Given the description of an element on the screen output the (x, y) to click on. 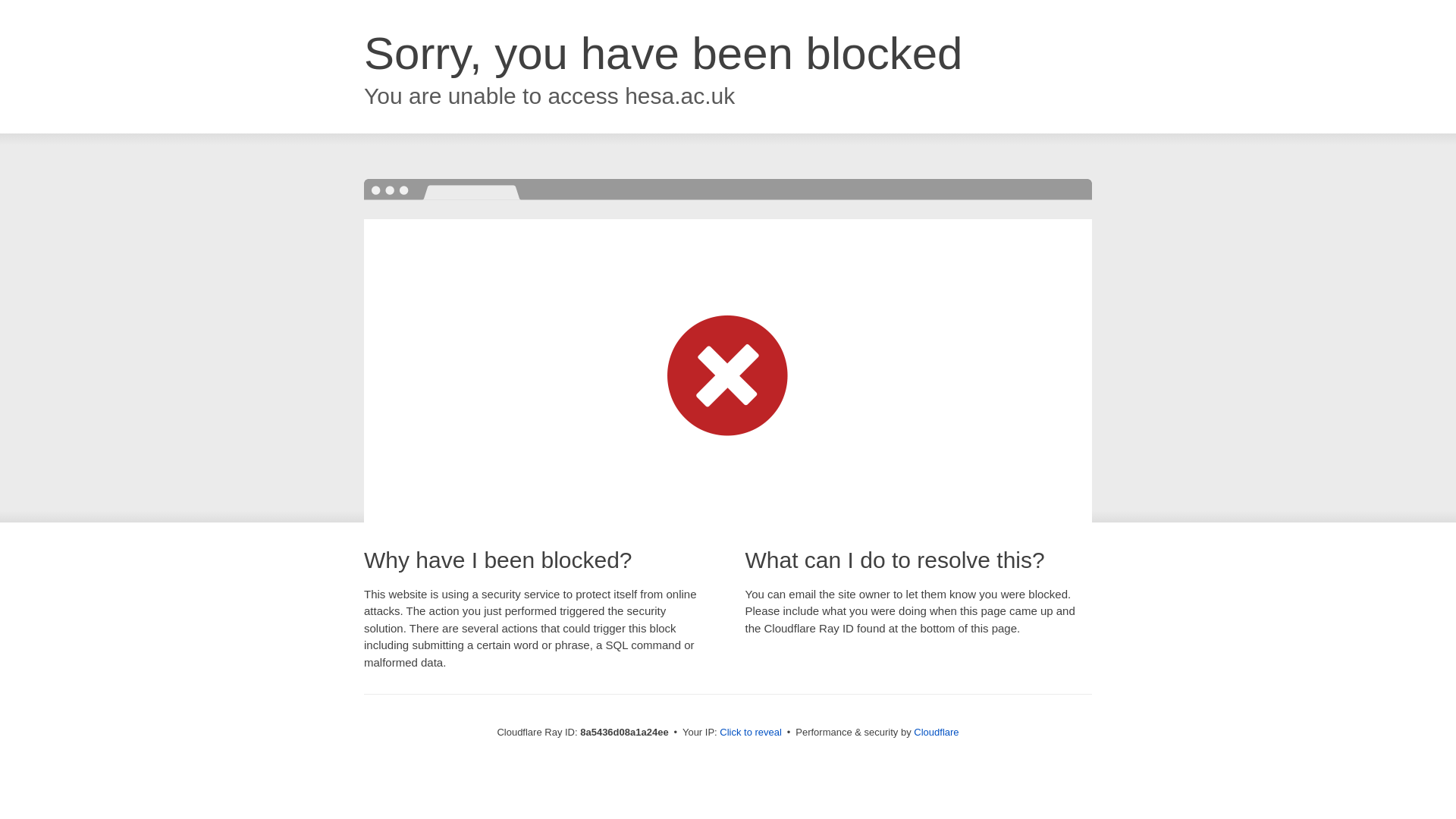
Click to reveal (750, 732)
Cloudflare (936, 731)
